Given the description of an element on the screen output the (x, y) to click on. 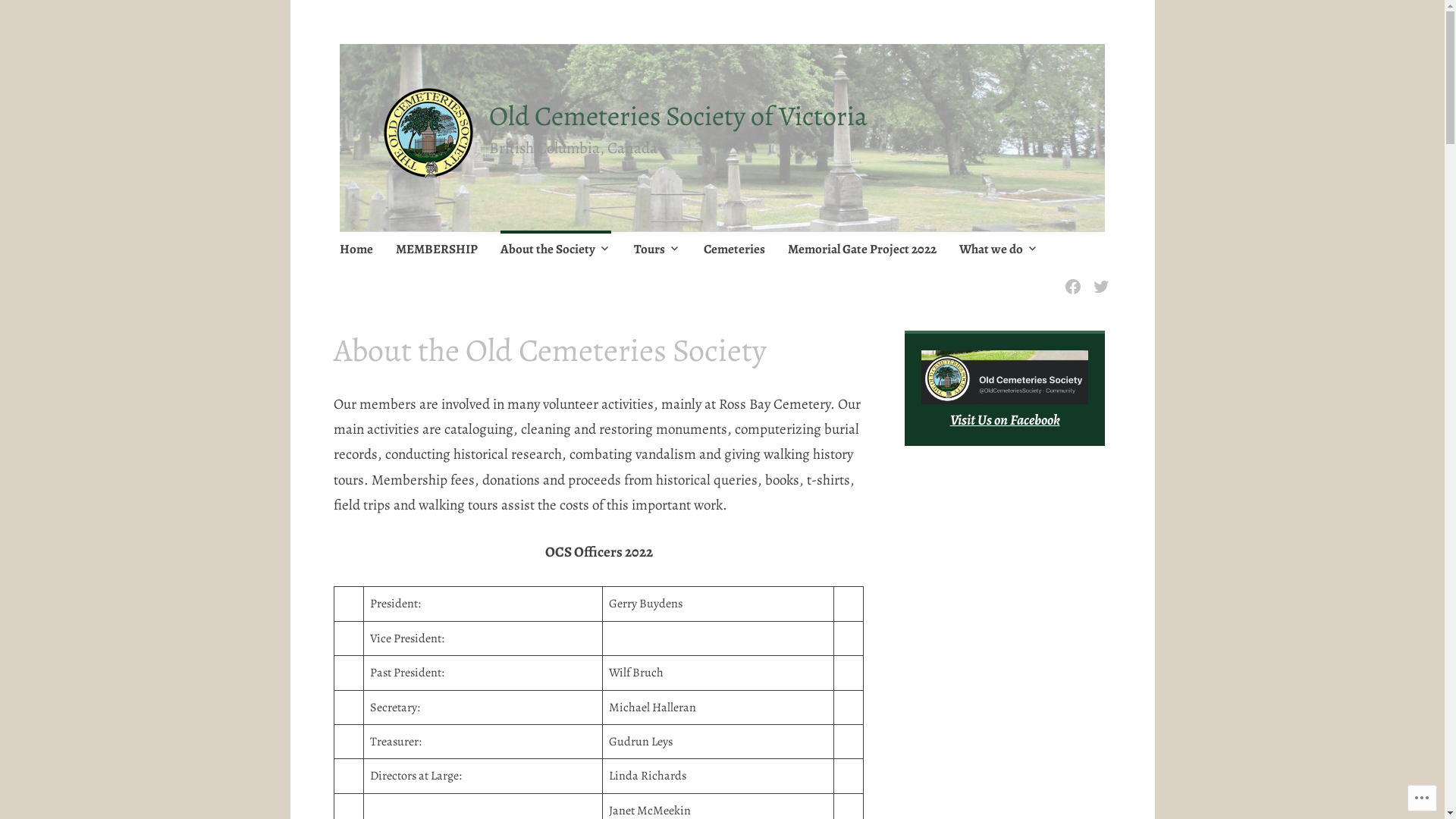
Cemeteries Element type: text (734, 249)
Visit Us on Facebook Element type: text (1005, 419)
Tours Element type: text (656, 249)
Home Element type: text (356, 249)
Old Cemeteries Society of Victoria Element type: text (678, 115)
Memorial Gate Project 2022 Element type: text (861, 249)
What we do Element type: text (998, 249)
About the Society Element type: text (555, 249)
MEMBERSHIP Element type: text (436, 249)
Search Element type: text (173, 17)
